Given the description of an element on the screen output the (x, y) to click on. 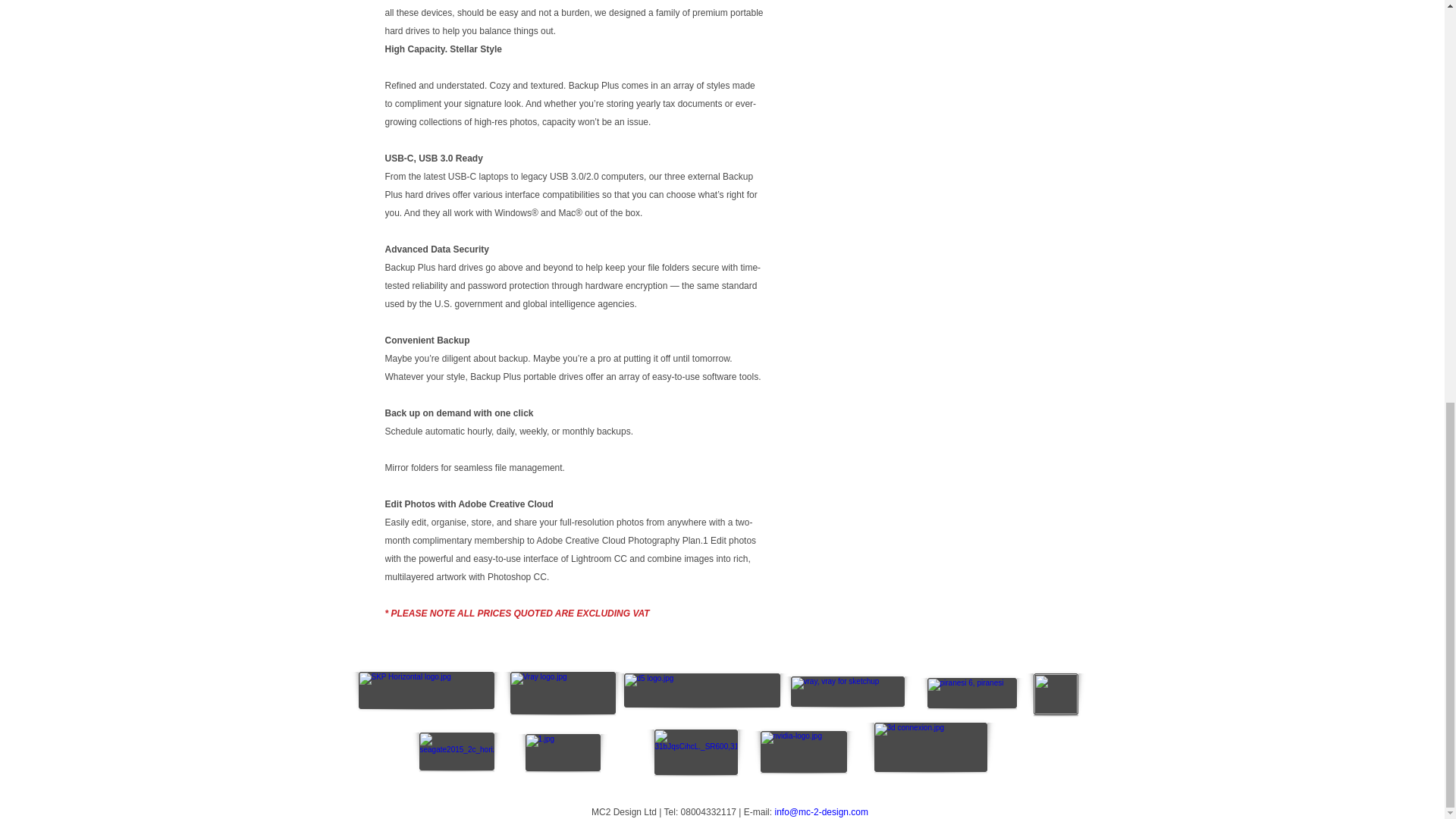
Wacom logo.png (1054, 693)
logo.jpg (930, 747)
Logo 2.jpg (700, 690)
